Given the description of an element on the screen output the (x, y) to click on. 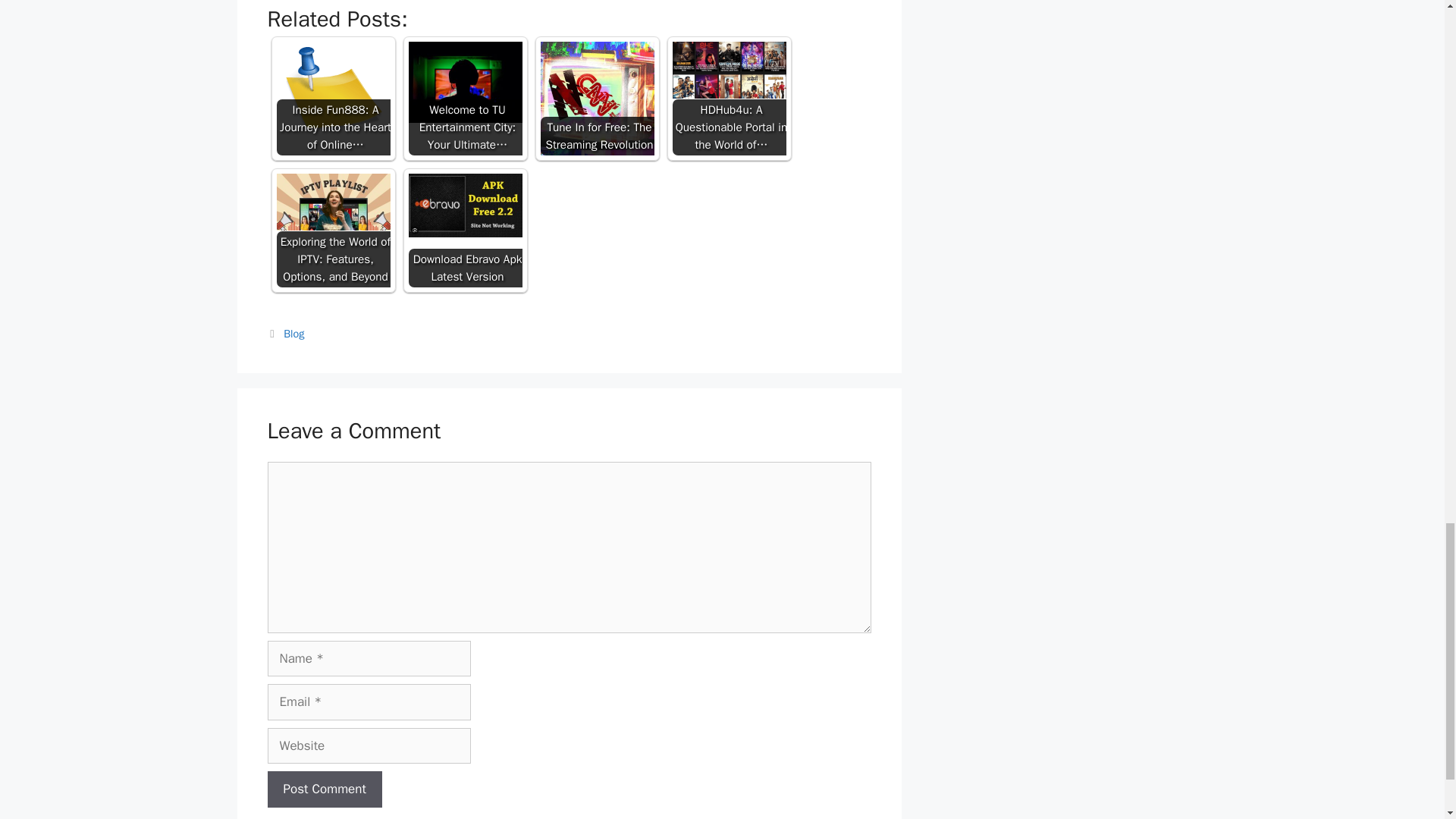
Tune In for Free: The Streaming Revolution (596, 98)
Download Ebravo Apk Latest Version (464, 205)
Exploring the World of IPTV: Features, Options, and Beyond (333, 201)
Post Comment (323, 789)
